Given the description of an element on the screen output the (x, y) to click on. 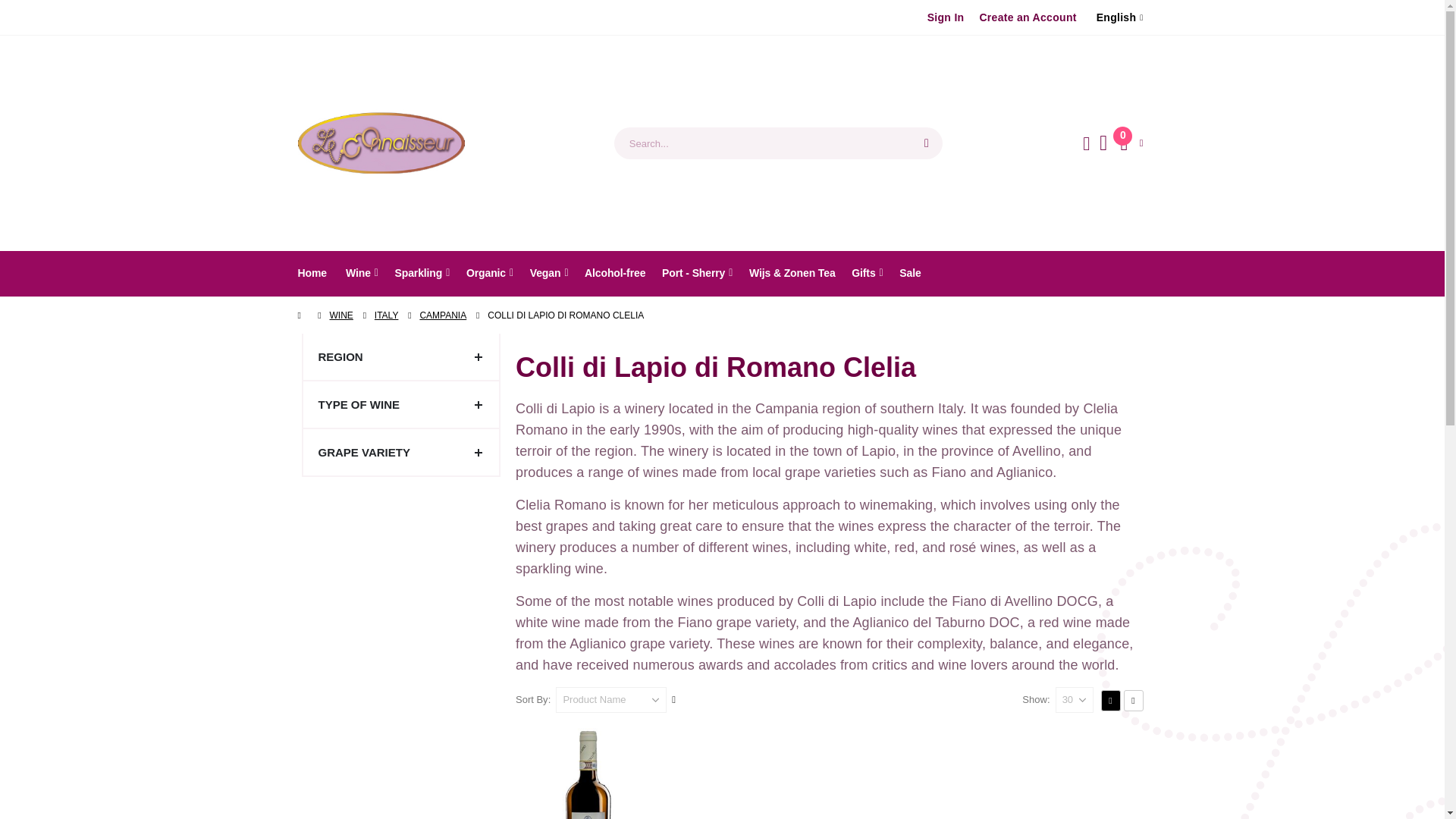
Create an Account (1027, 17)
Search (926, 142)
Le Connaisseur (1131, 142)
Sign In (380, 143)
